Given the description of an element on the screen output the (x, y) to click on. 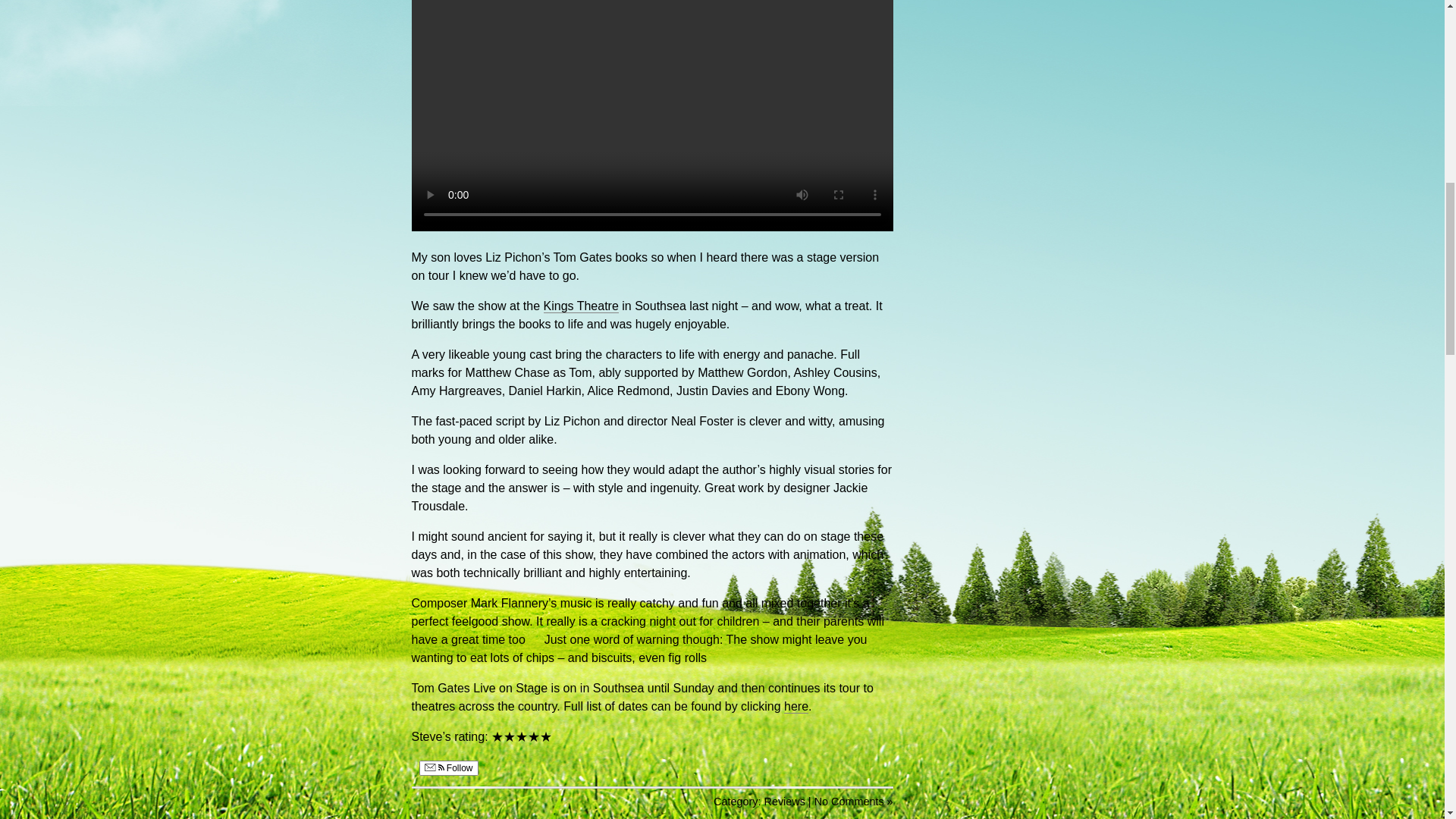
Email, RSS (434, 768)
Follow (448, 767)
Kings Theatre (580, 305)
Reviews (783, 801)
here (796, 706)
smile emoticon (534, 639)
smile emoticon (716, 657)
